Given the description of an element on the screen output the (x, y) to click on. 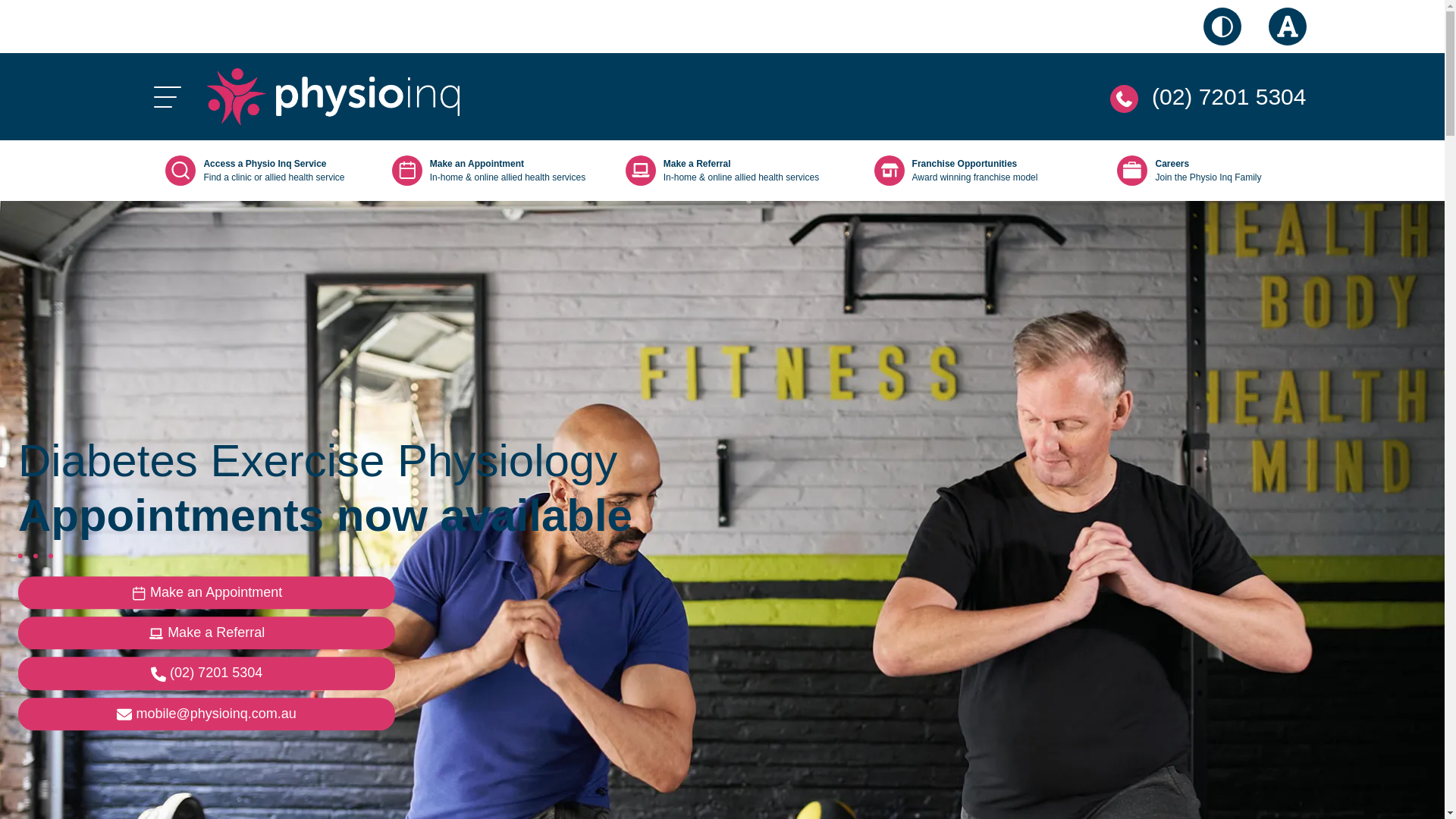
Toggle font size (1287, 26)
Toggle high contrast mode (1222, 26)
